Given the description of an element on the screen output the (x, y) to click on. 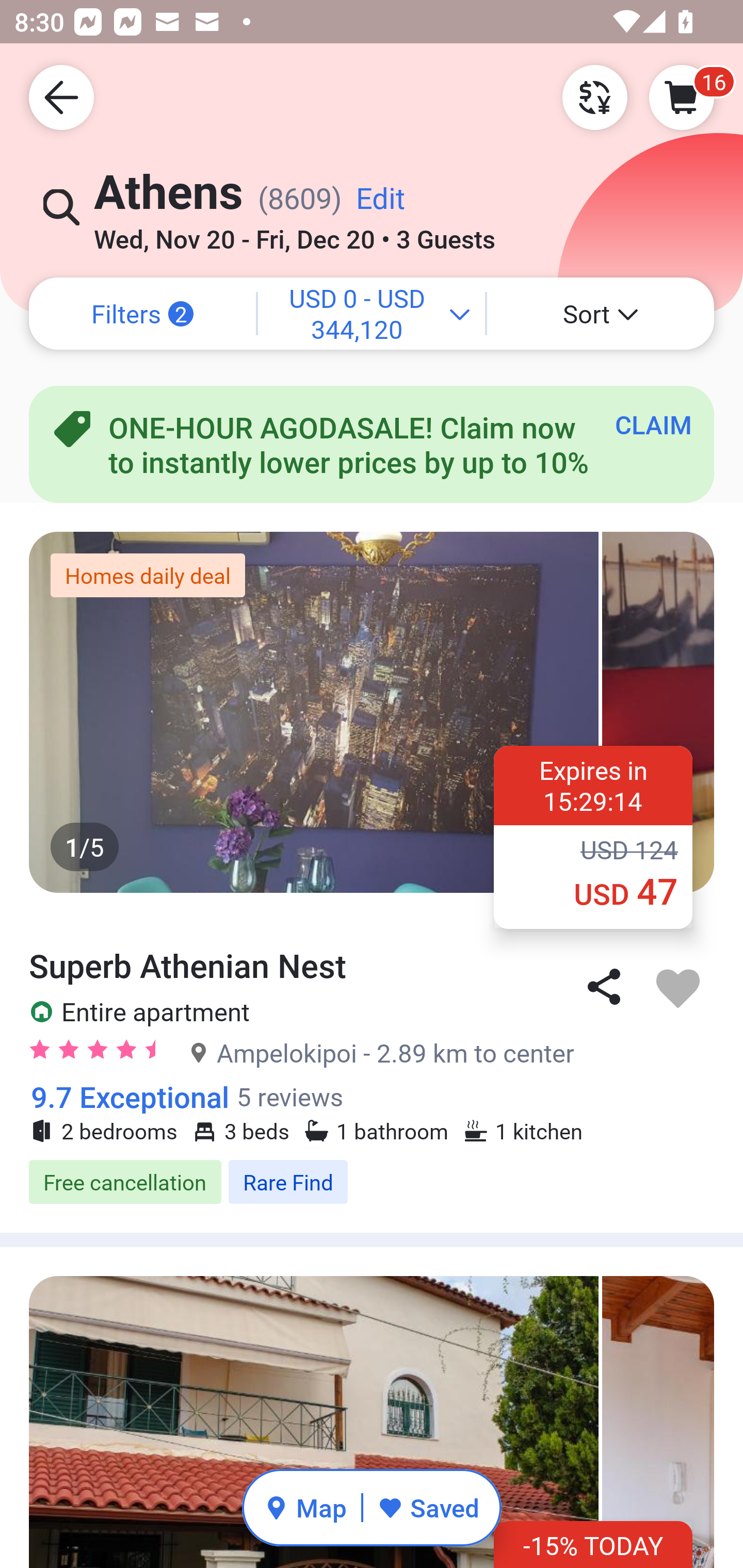
Filters 2 (141, 313)
⁦USD 0⁩ - ⁦USD 344,120⁩ (371, 313)
Sort (600, 313)
CLAIM (653, 424)
1/5 (371, 711)
Homes daily deal (147, 575)
Expires in 15:29:14 ‪USD 124 ‪USD 47 (593, 837)
Free cancellation Rare Find (371, 1182)
Map (305, 1507)
Saved (428, 1507)
-15% TODAY (593, 1544)
